Given the description of an element on the screen output the (x, y) to click on. 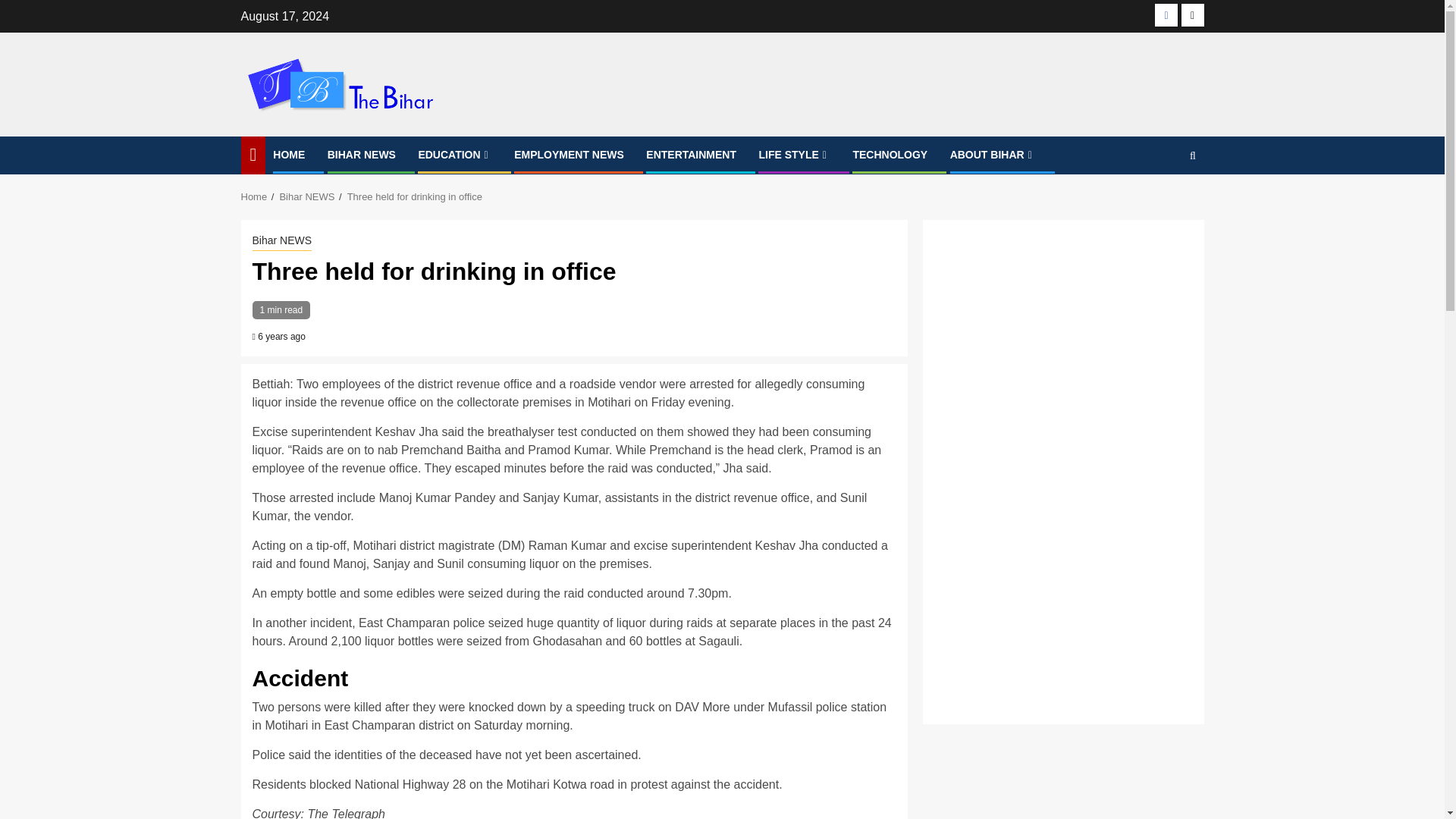
LIFE STYLE (793, 154)
HOME (288, 154)
Three held for drinking in office (414, 196)
Bihar NEWS (281, 240)
BIHAR NEWS (361, 154)
Search (1163, 201)
Advertisement (1062, 592)
Home (254, 196)
Facebook (1165, 15)
EMPLOYMENT NEWS (568, 154)
